Given the description of an element on the screen output the (x, y) to click on. 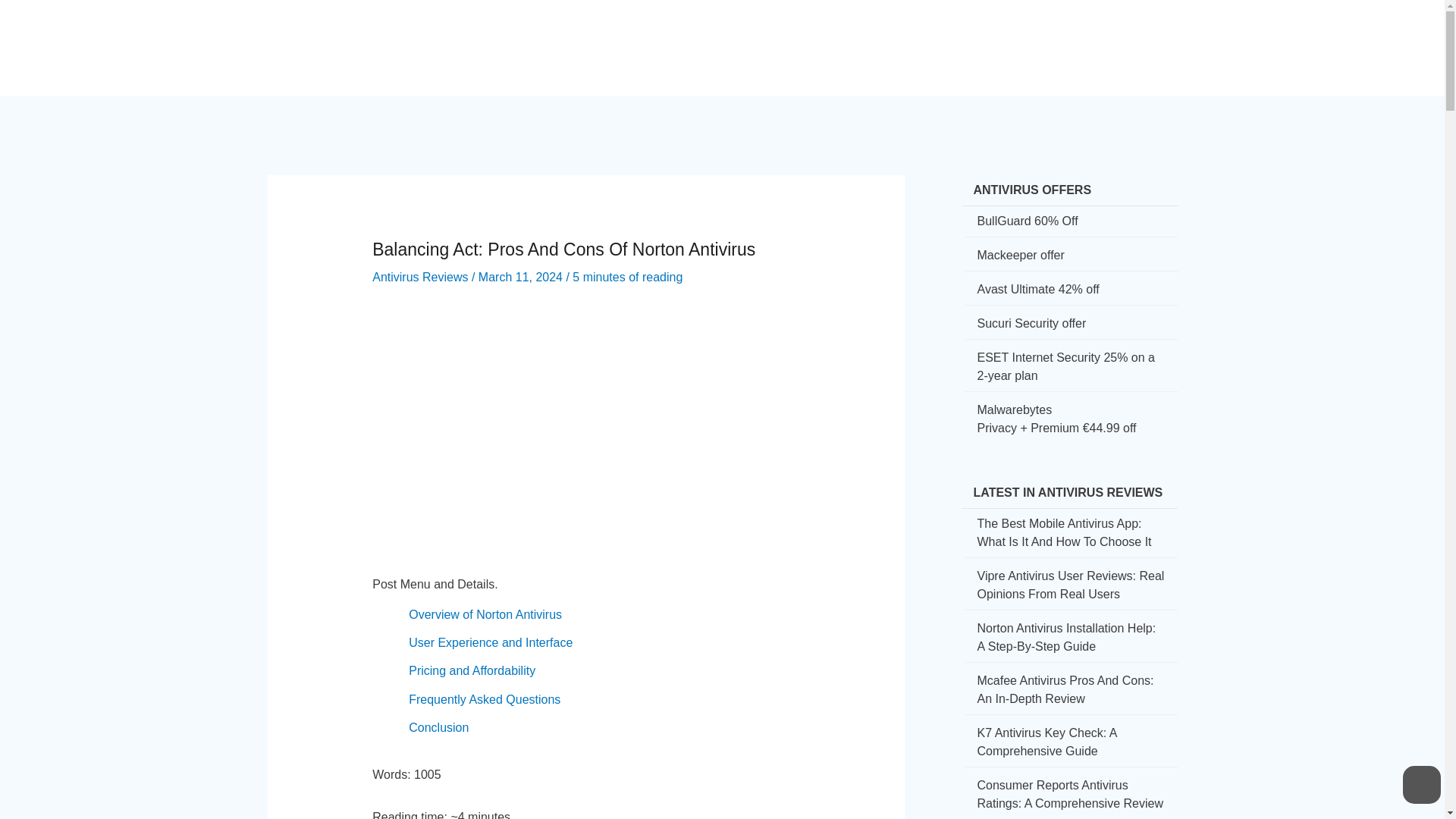
Pricing and Affordability (472, 670)
Finances (929, 35)
Antivirus Reviews (419, 277)
Misc (1122, 35)
User Experience and Interface (490, 642)
Gaming (999, 35)
How-To (802, 35)
Overview of Norton Antivirus (485, 614)
10 Best (1064, 35)
Frequently Asked Questions (484, 698)
Conclusion (438, 727)
Social (863, 35)
Cyber Security (713, 35)
